Given the description of an element on the screen output the (x, y) to click on. 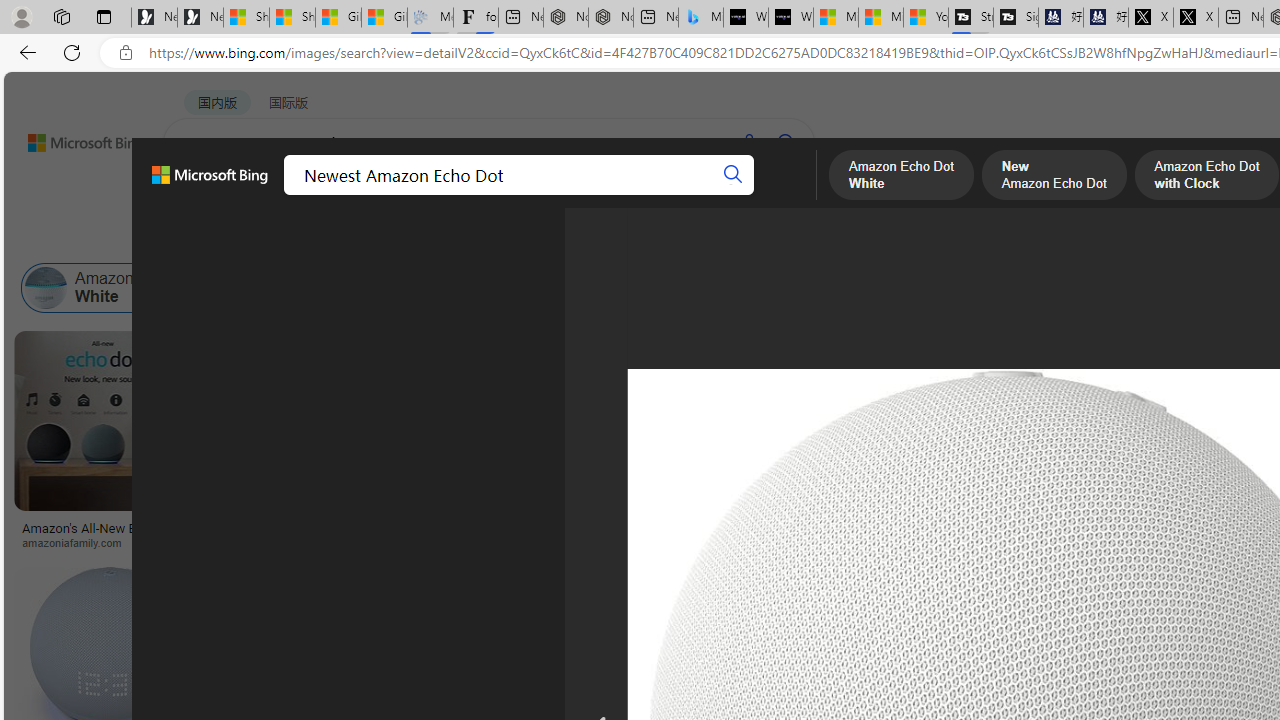
Date (591, 237)
Microsoft Bing, Back to Bing search (209, 183)
Review: Amazon Echo Dot (5th Gen-2022 edition) (628, 528)
IMAGES (274, 196)
Color (305, 237)
Image size (222, 237)
MAPS (698, 195)
